Given the description of an element on the screen output the (x, y) to click on. 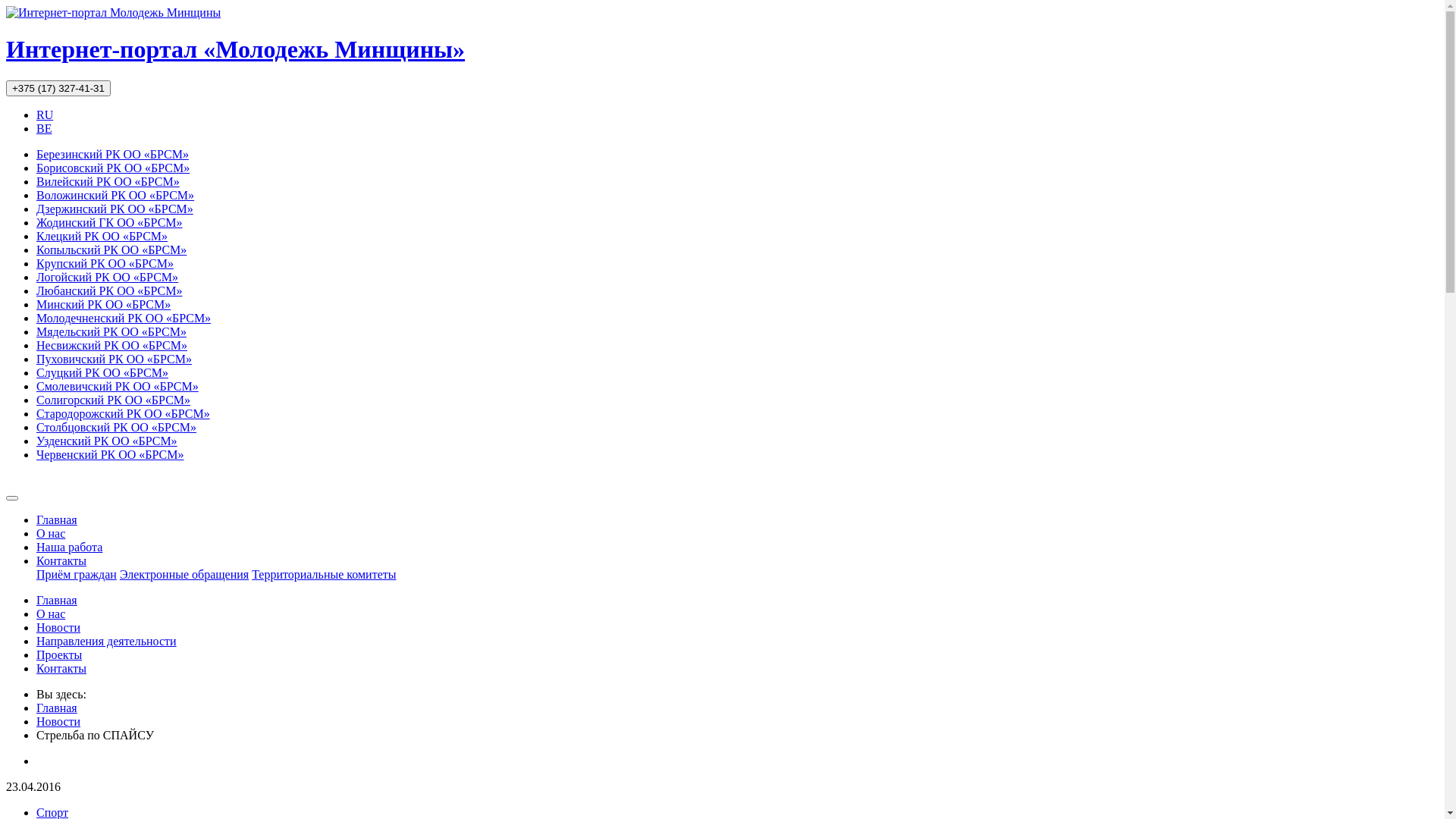
BE Element type: text (43, 128)
RU Element type: text (44, 114)
+375 (17) 327-41-31 Element type: text (58, 88)
